Given the description of an element on the screen output the (x, y) to click on. 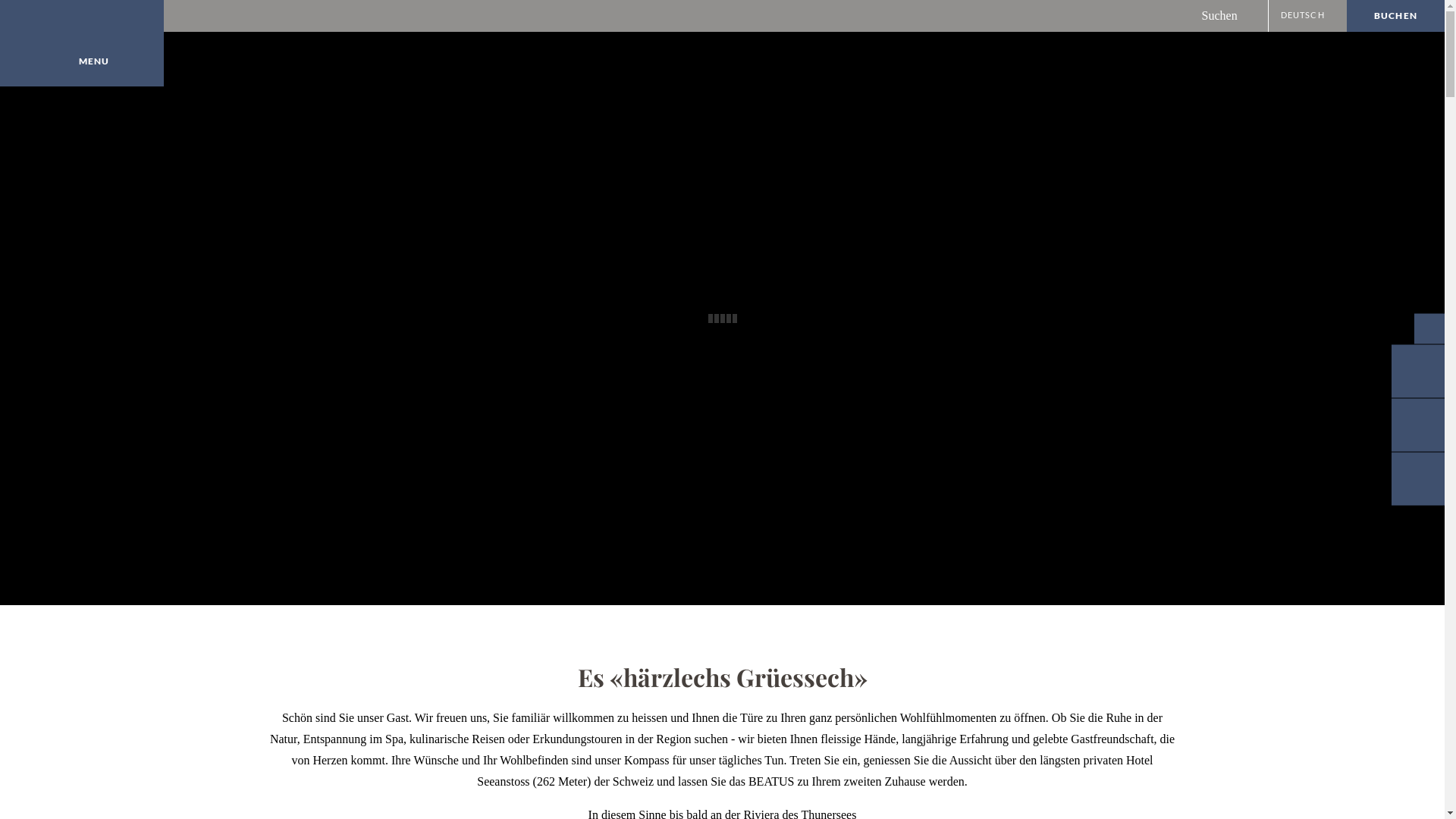
Toggle Element type: text (1429, 328)
Suchen Element type: text (1234, 15)
BUCHEN Element type: text (1395, 15)
Beatus Element type: text (81, 43)
